Given the description of an element on the screen output the (x, y) to click on. 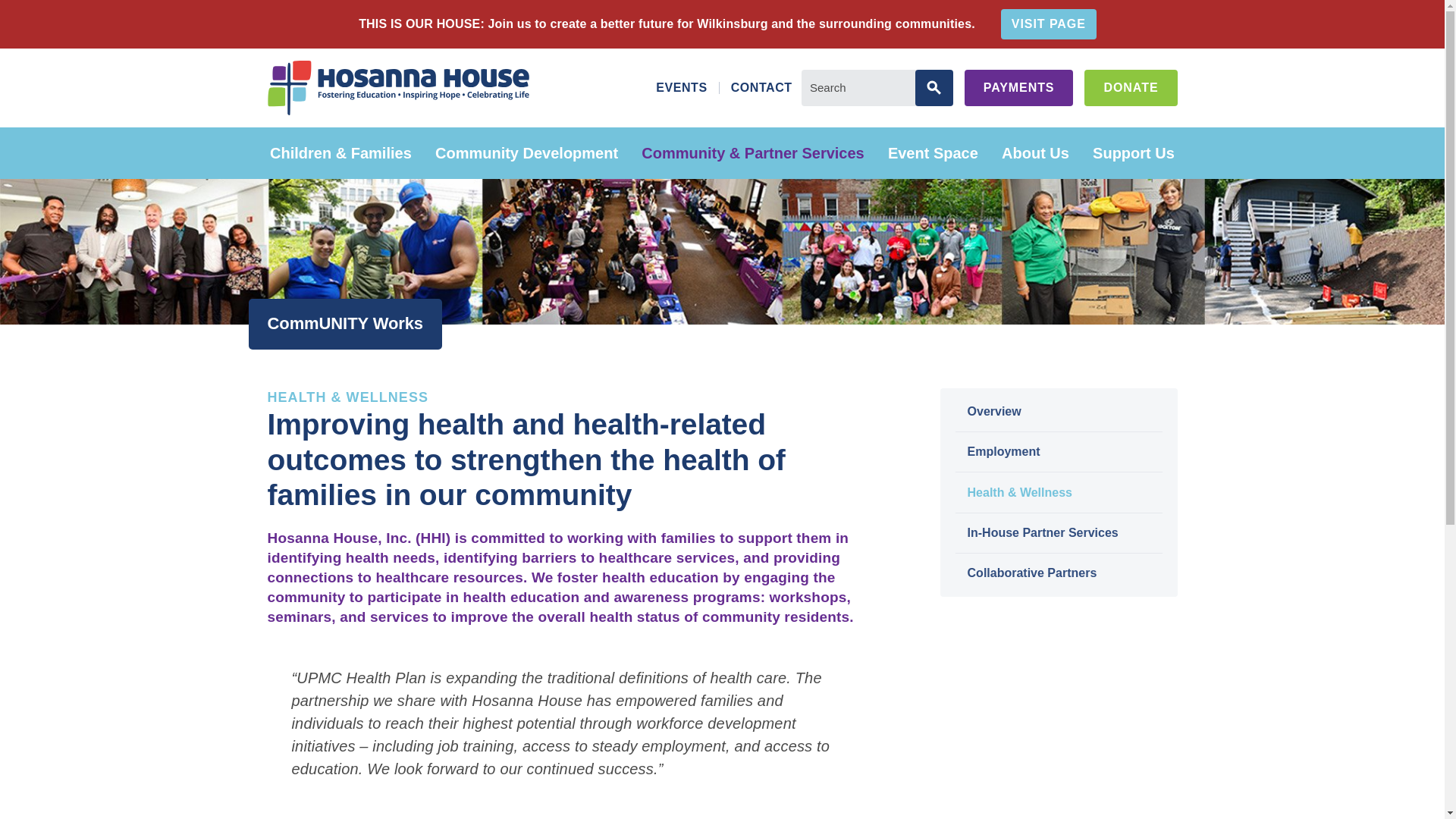
VISIT PAGE (1048, 24)
